Given the description of an element on the screen output the (x, y) to click on. 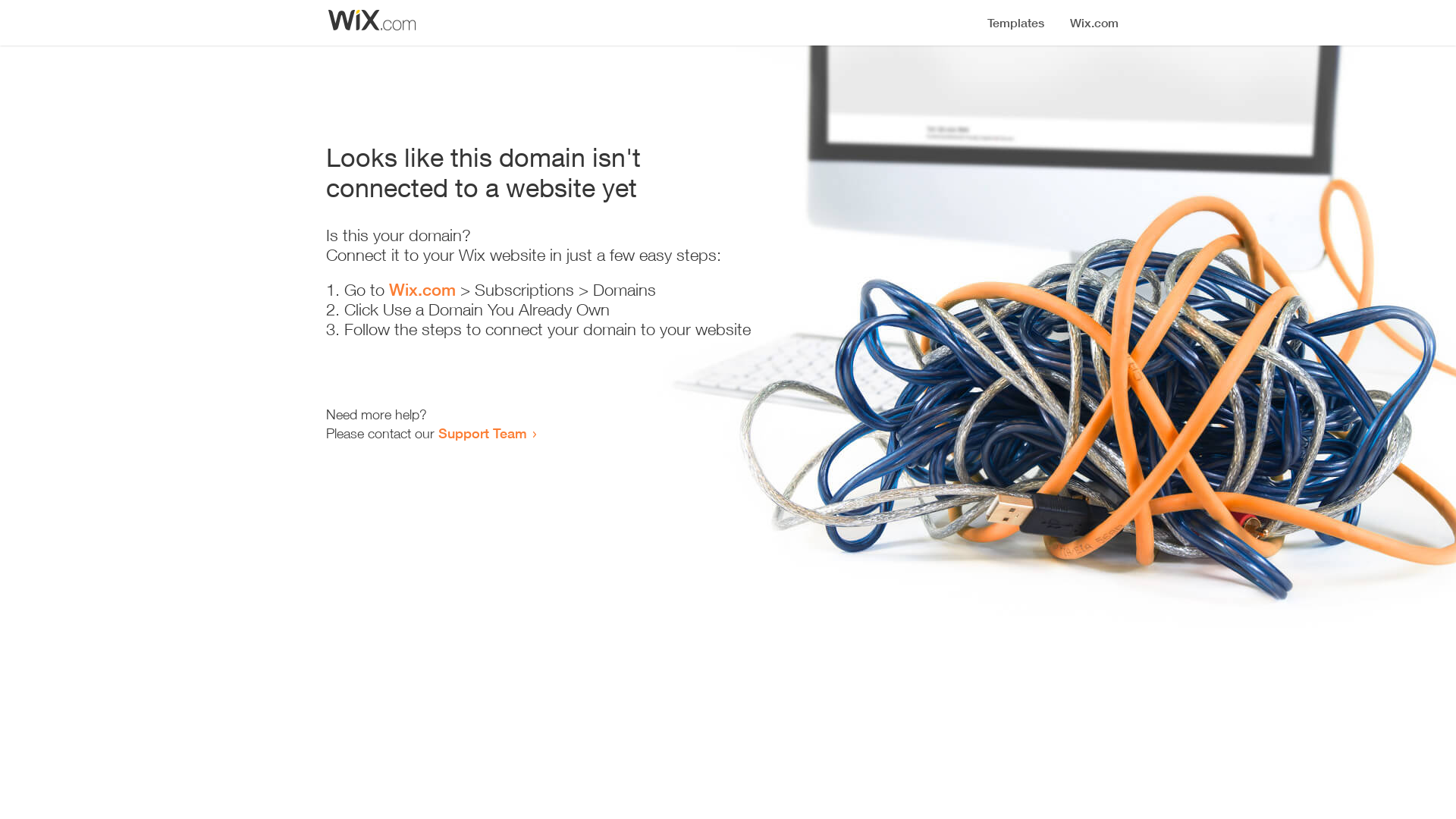
Wix.com Element type: text (422, 289)
Support Team Element type: text (482, 432)
